Given the description of an element on the screen output the (x, y) to click on. 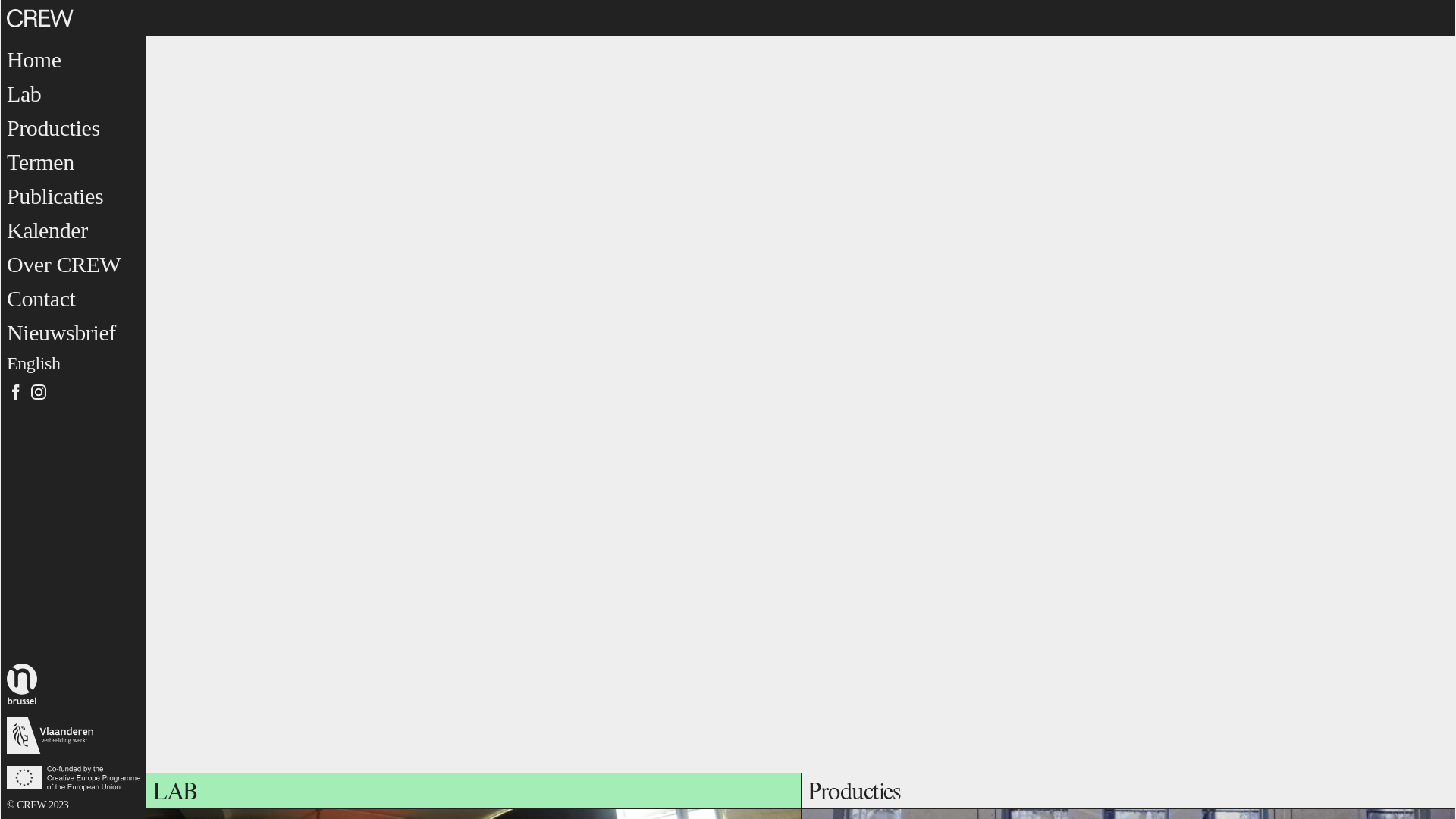
Nieuwsbrief Element type: text (61, 332)
Vi Element type: text (60, 391)
Termen Element type: text (40, 161)
Contact Element type: text (40, 297)
English Element type: text (33, 363)
Ig Element type: text (38, 391)
Producties Element type: text (53, 127)
Fb Element type: text (15, 391)
Publicaties Element type: text (54, 195)
Kalender Element type: text (46, 229)
Home Element type: text (33, 59)
Over CREW Element type: text (63, 263)
Lab Element type: text (23, 93)
